Given the description of an element on the screen output the (x, y) to click on. 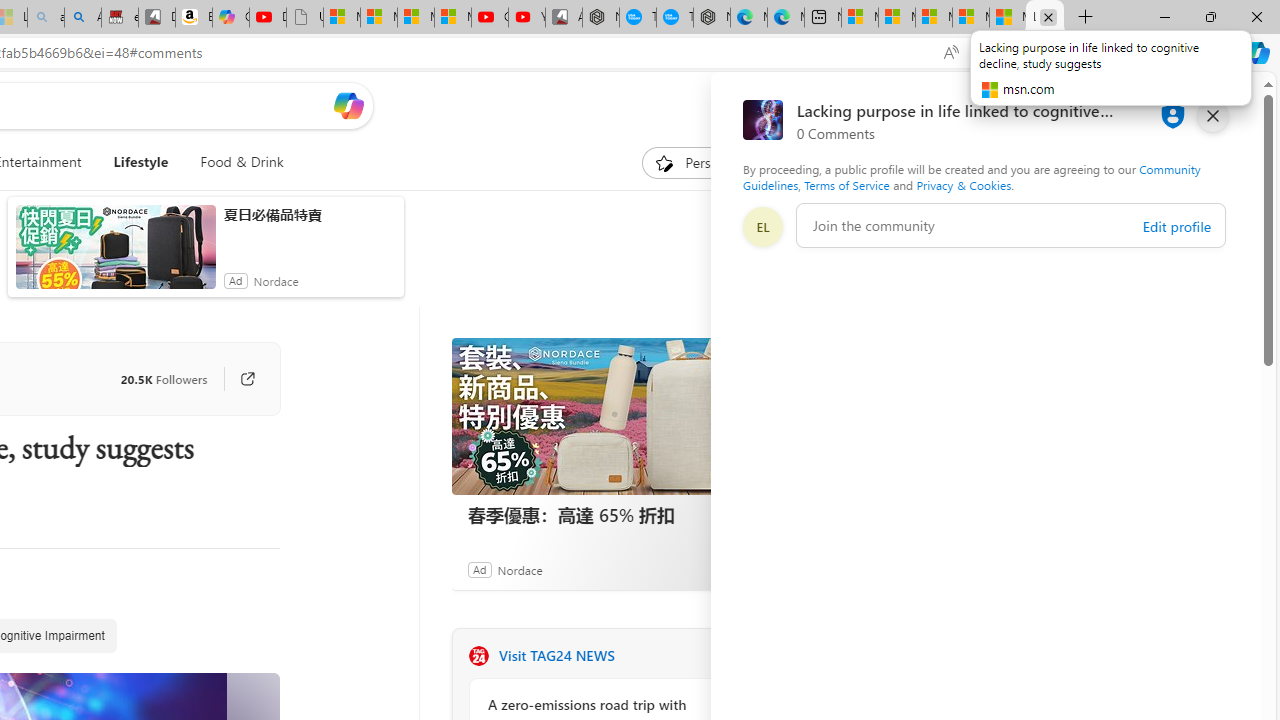
TAG24 NEWS (478, 655)
Nordace - My Account (600, 17)
Food & Drink (241, 162)
